Given the description of an element on the screen output the (x, y) to click on. 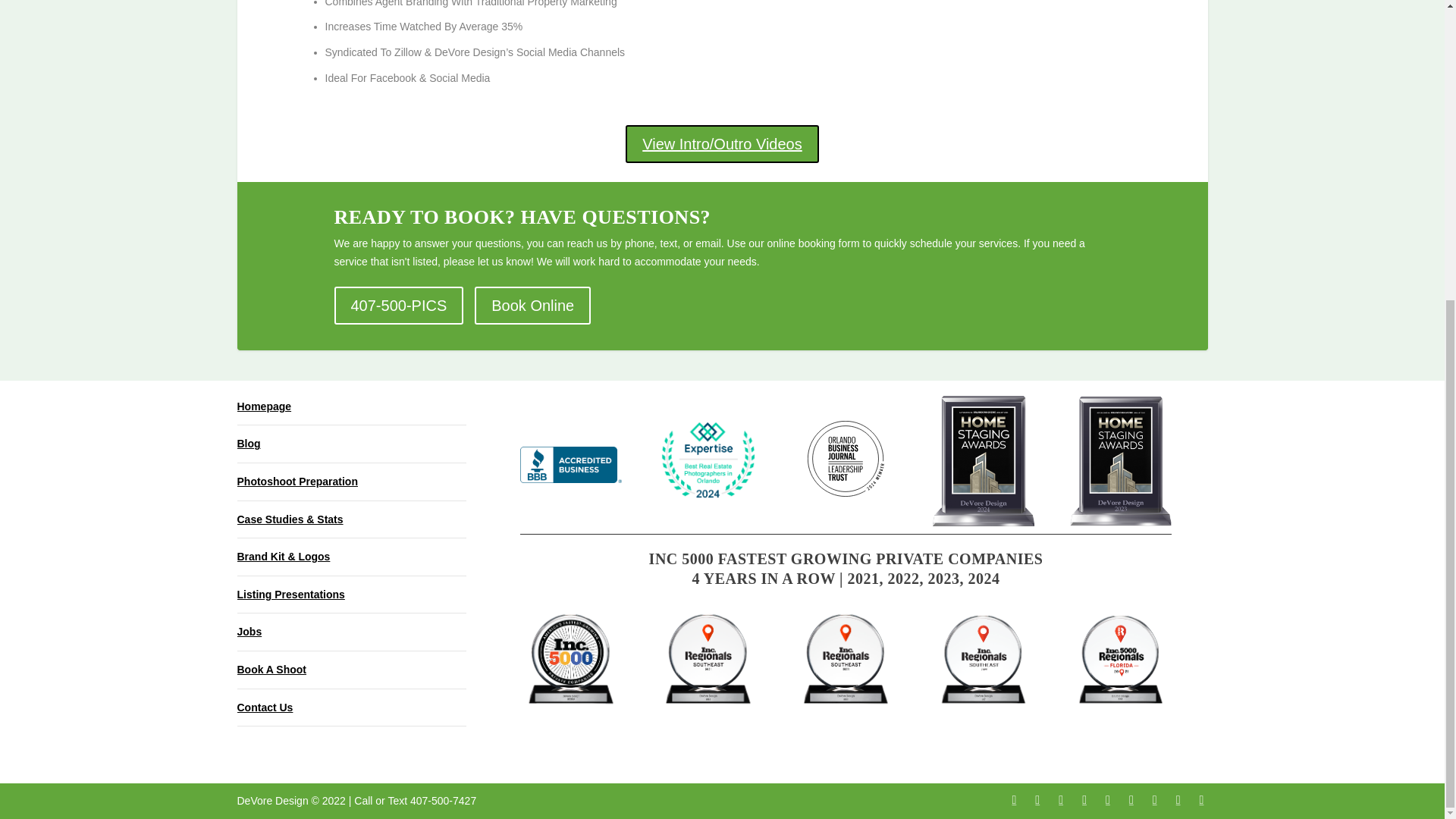
Inc Regionals - Award 2024 (708, 660)
Award 2023 (845, 660)
Award 2021 (1121, 660)
Award 2022 (983, 660)
Home Staging Awards - 2023 (1121, 460)
Expertise Badge 2024 (708, 459)
Biz-Journal-Badge-2024 (845, 458)
Award 2023 V3 (570, 660)
BBB Accredited Business (570, 464)
Home Staging Awards - 2024 (983, 460)
